Given the description of an element on the screen output the (x, y) to click on. 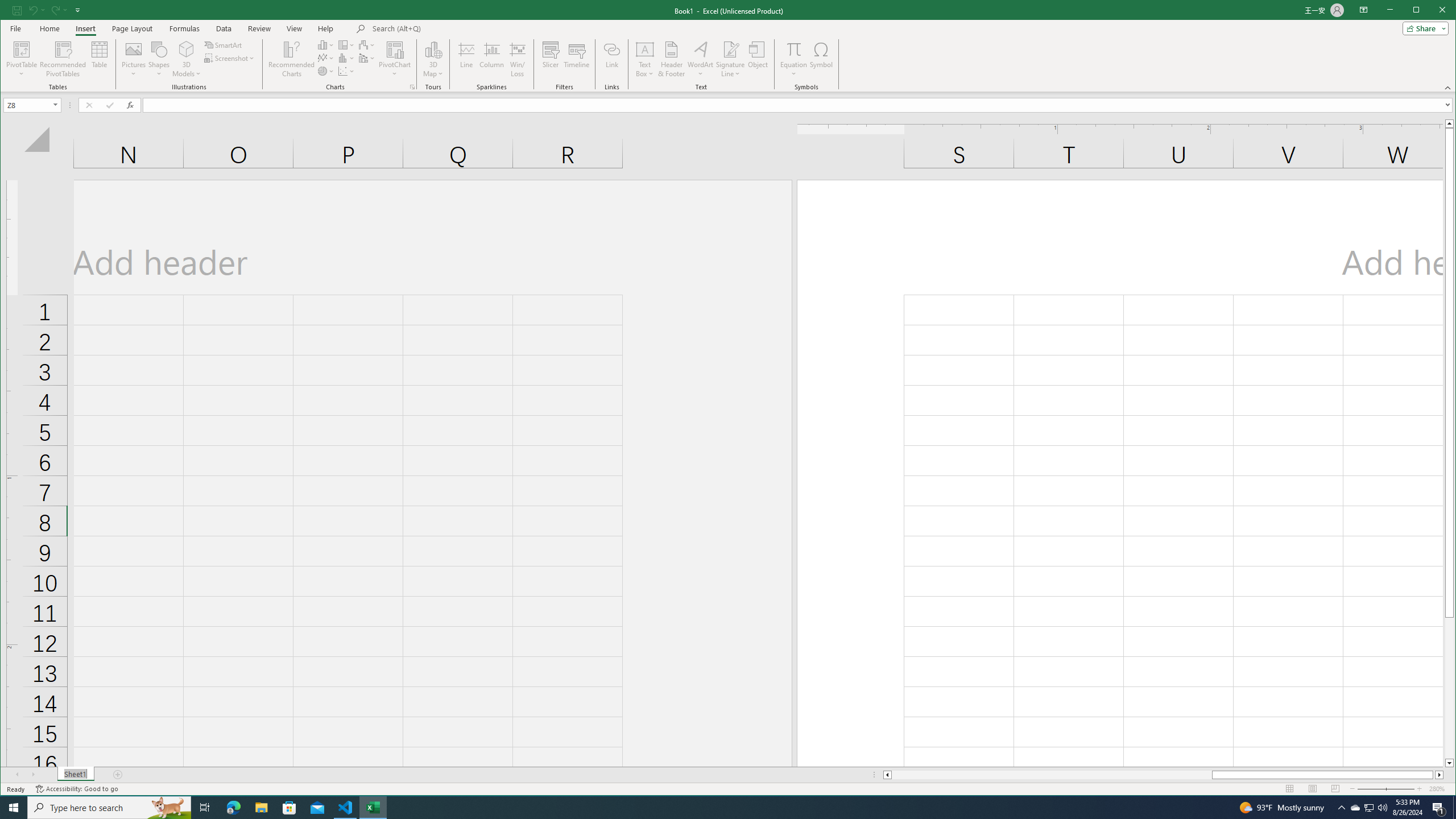
Insert Hierarchy Chart (346, 44)
Start (13, 807)
Type here to search (108, 807)
Running applications (717, 807)
PivotChart (394, 48)
Formula Bar (799, 104)
Notification Chevron (1341, 807)
Task View (204, 807)
Win/Loss (517, 59)
